Given the description of an element on the screen output the (x, y) to click on. 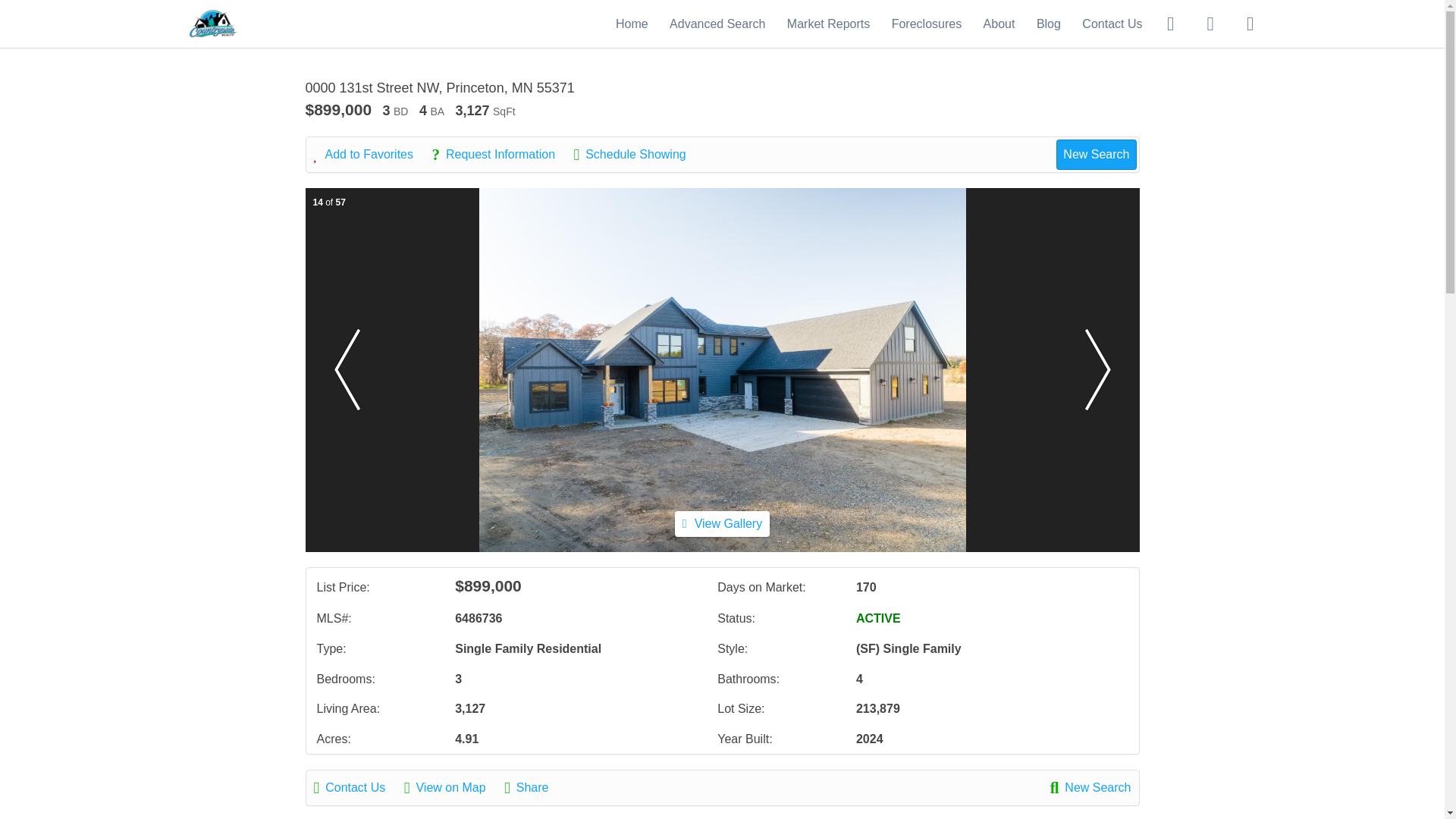
Share (533, 787)
Advanced Search (717, 23)
New Search (1090, 787)
Add to Favorites (371, 154)
Home (631, 23)
Foreclosures (925, 23)
Schedule Showing (636, 154)
Contact Us (357, 787)
View Gallery (722, 522)
View Gallery (722, 524)
Market Reports (828, 23)
Blog (1048, 23)
Contact Us (1111, 23)
About (999, 23)
View on Map (452, 787)
